Given the description of an element on the screen output the (x, y) to click on. 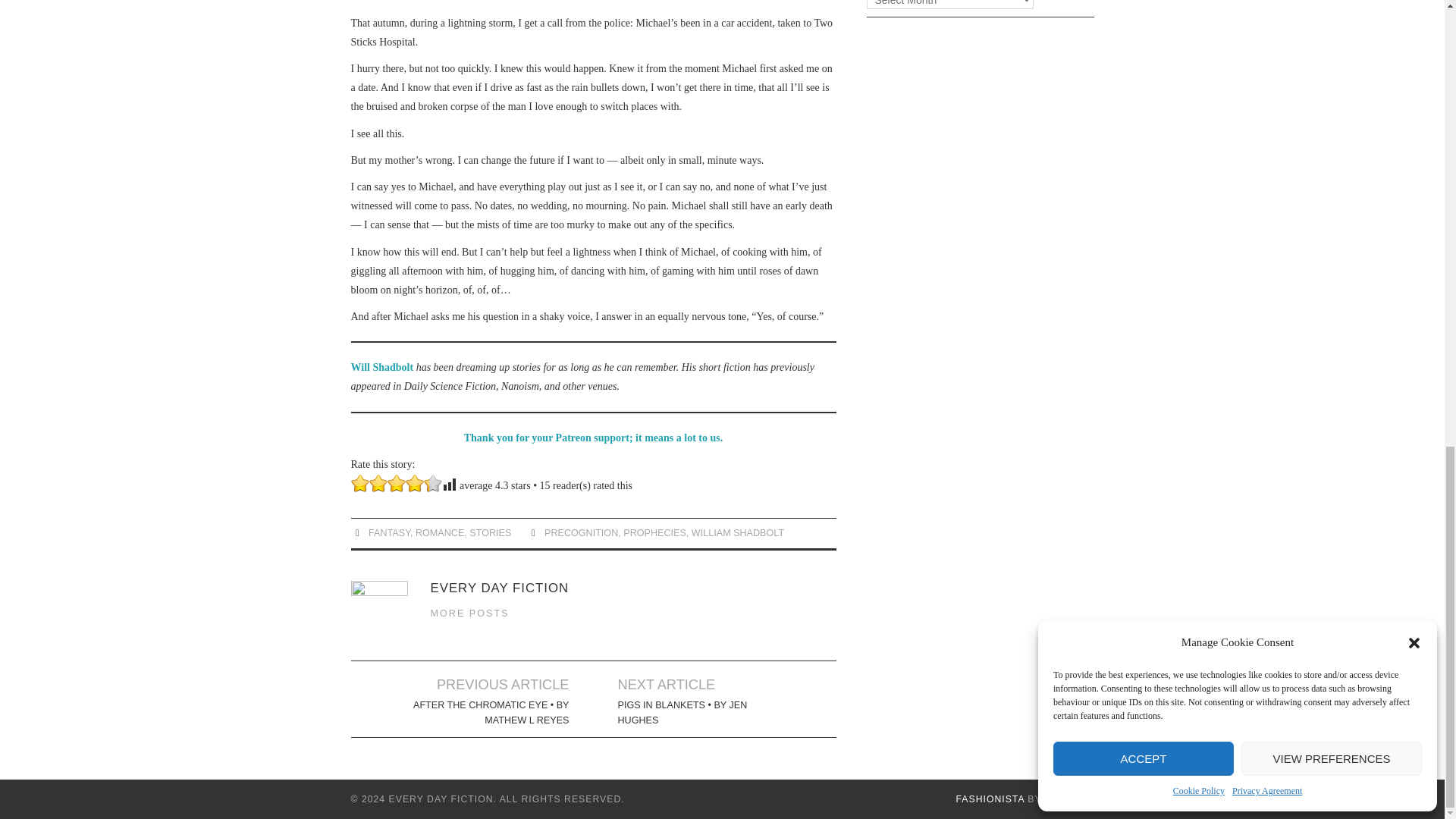
MORE POSTS (469, 613)
WILLIAM SHADBOLT (737, 532)
ROMANCE (439, 532)
Thank you for your Patreon support; it means a lot to us. (593, 437)
PROPHECIES (654, 532)
PRECOGNITION (580, 532)
Will Shadbolt (381, 367)
FANTASY (389, 532)
STORIES (489, 532)
